Given the description of an element on the screen output the (x, y) to click on. 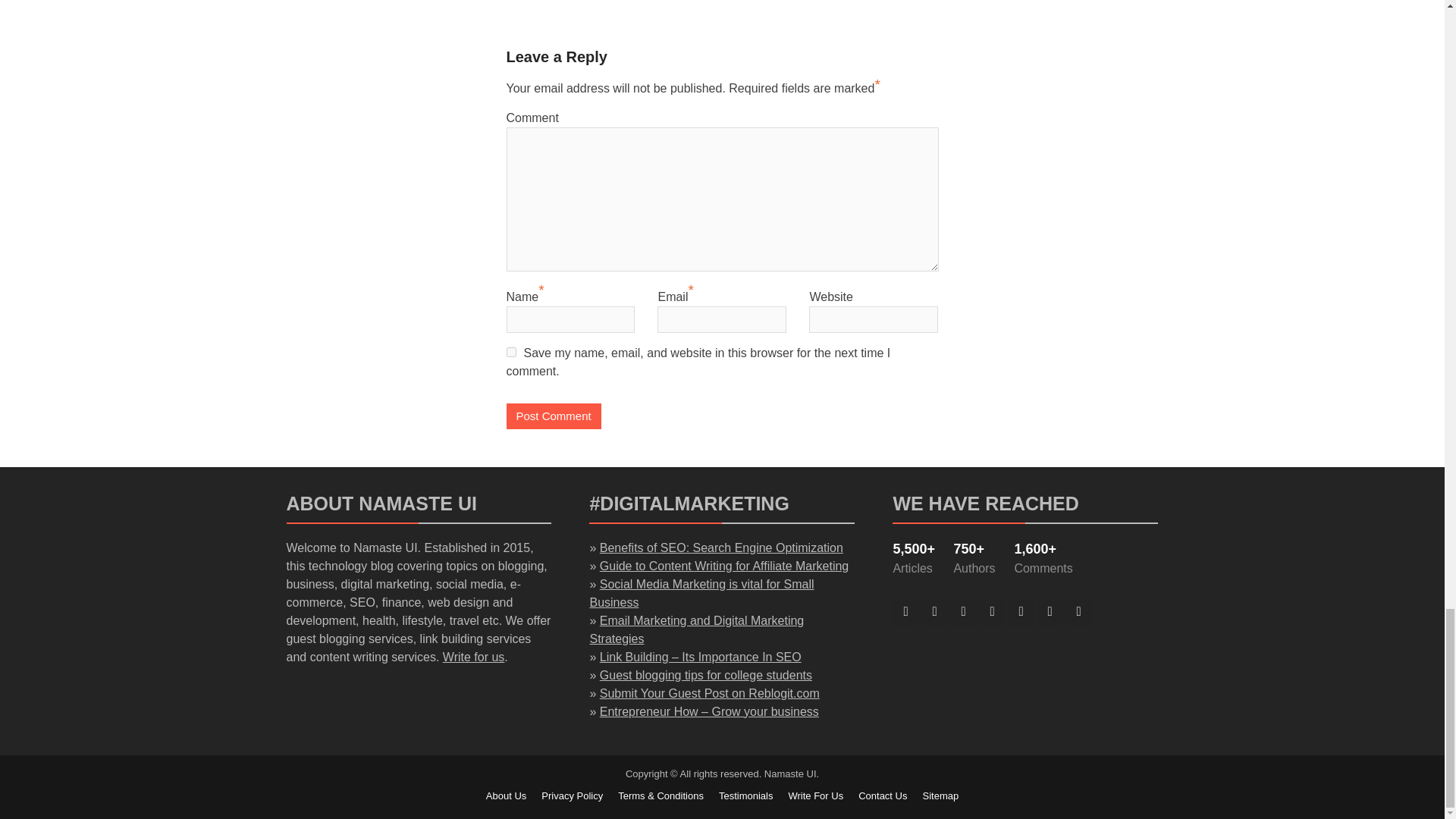
yes (511, 352)
Post Comment (553, 416)
